Given the description of an element on the screen output the (x, y) to click on. 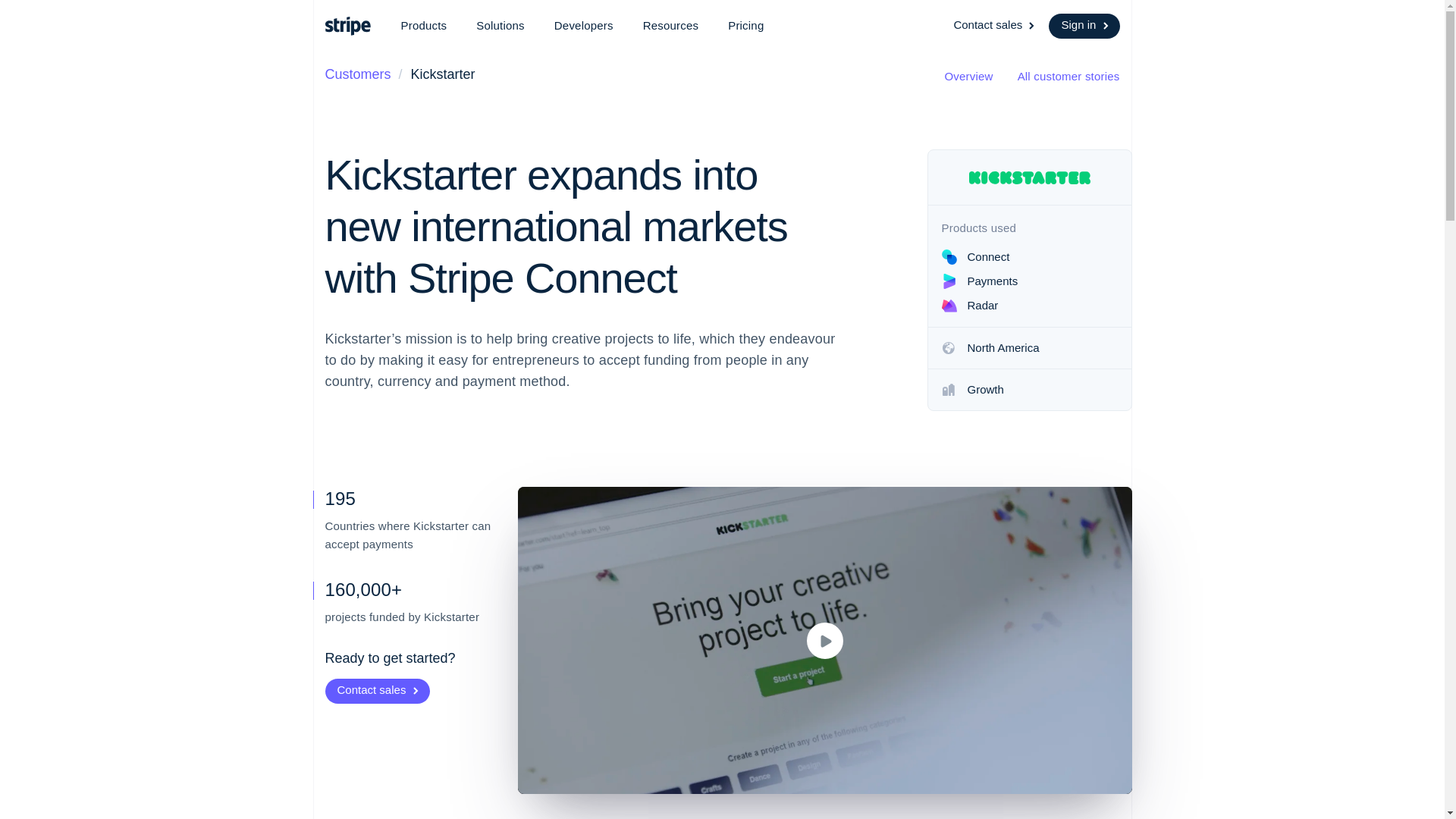
Developers (583, 25)
Sign in  (1083, 25)
Resources (670, 25)
Solutions (500, 25)
Contact sales  (994, 25)
Pricing (745, 25)
Products (423, 25)
